Given the description of an element on the screen output the (x, y) to click on. 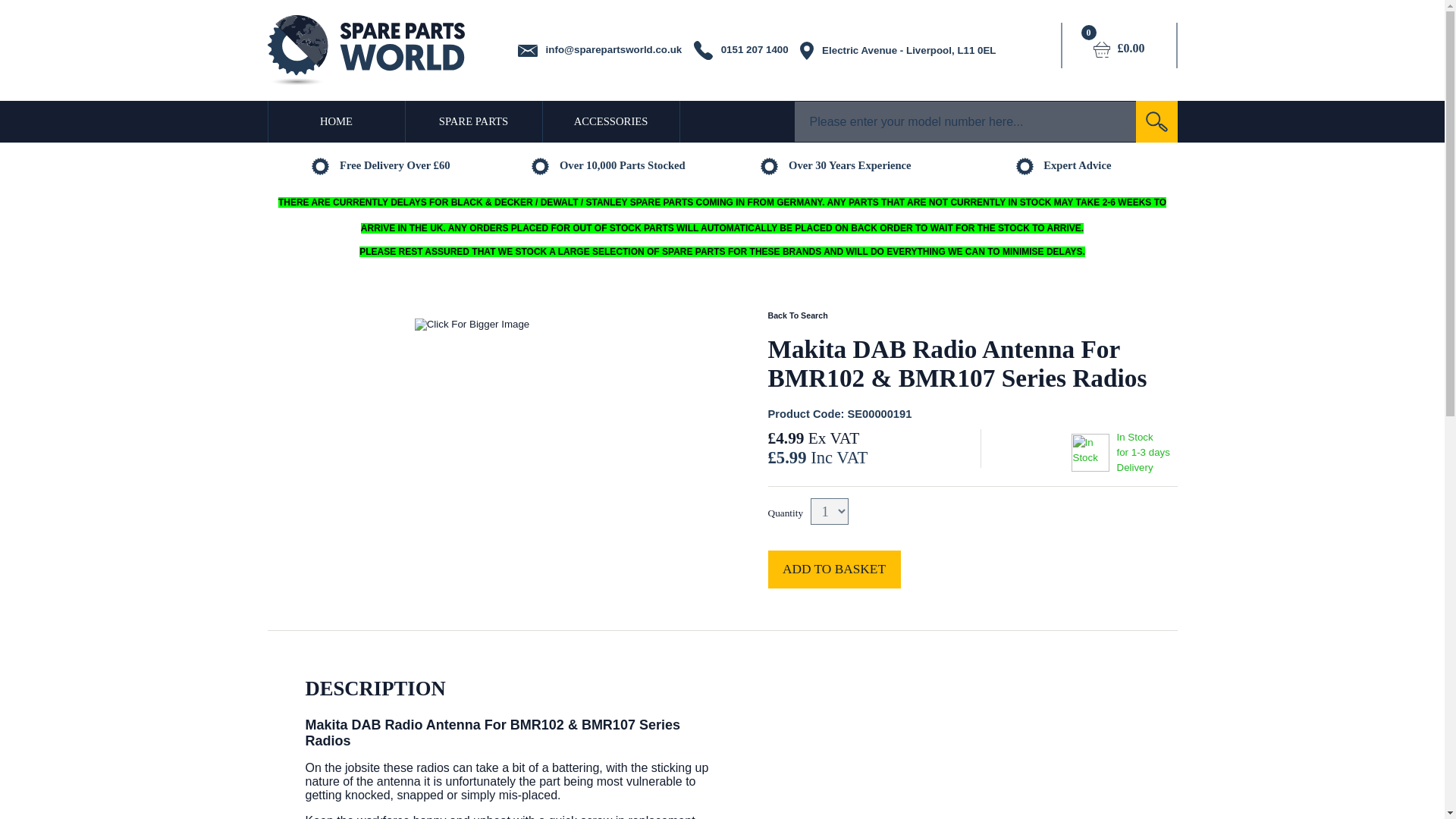
  0151 207 1400 (742, 49)
ACCESSORIES (611, 121)
Back To Search (797, 315)
  Electric Avenue - Liverpool, L11 0EL (898, 49)
HOME (335, 121)
Please enter your model number here... (964, 121)
SPARE PARTS (472, 121)
Please enter your model number here... (964, 121)
